Given the description of an element on the screen output the (x, y) to click on. 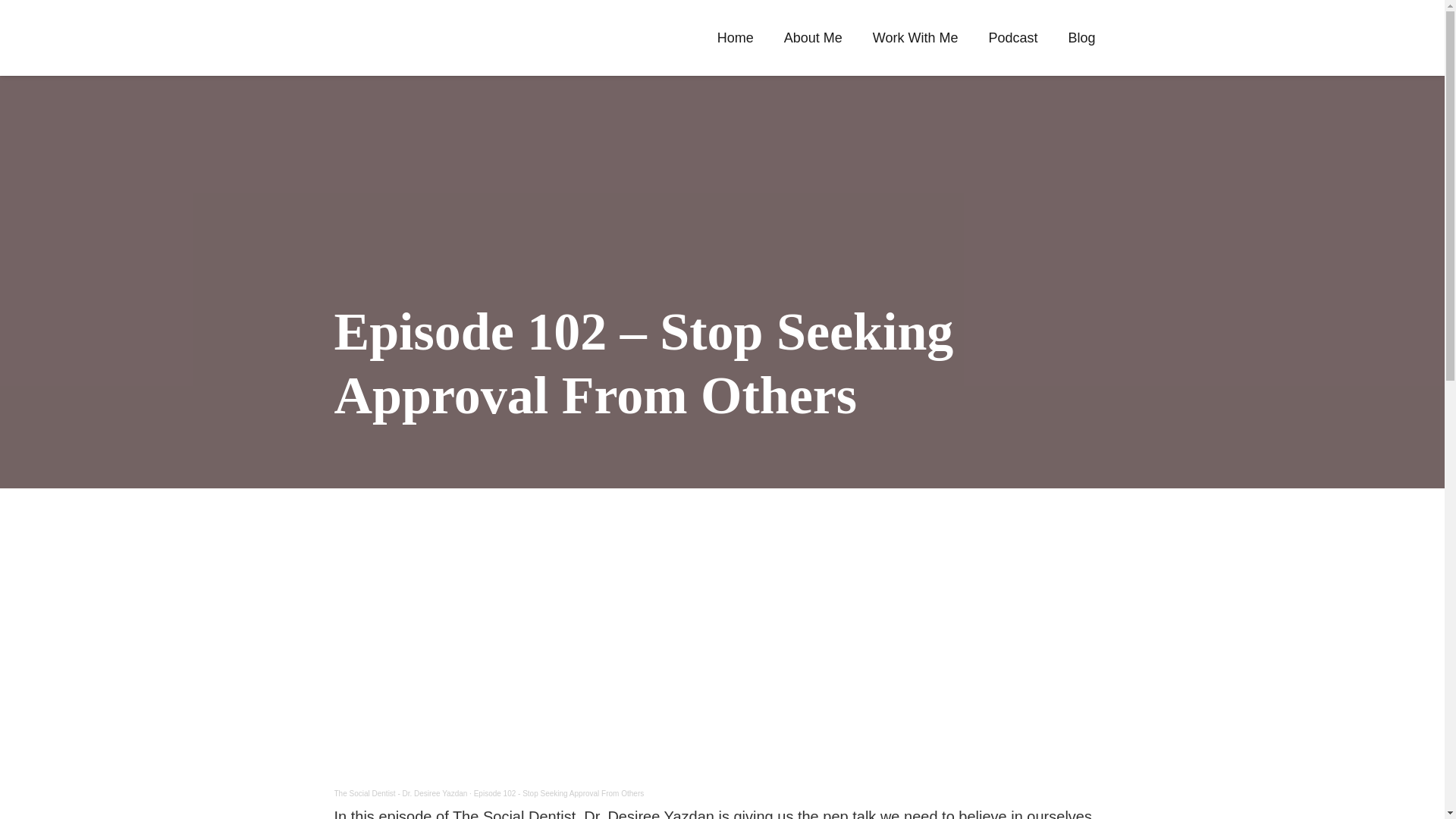
Home (734, 37)
The Social Dentist - Dr. Desiree Yazdan (400, 793)
Podcast (1012, 37)
Blog (1080, 37)
Work With Me (915, 37)
Episode 102 - Stop Seeking Approval From Others (559, 793)
About Me (812, 37)
Episode 102 - Stop Seeking Approval From Others (559, 793)
The Social Dentist - Dr. Desiree Yazdan (400, 793)
